Given the description of an element on the screen output the (x, y) to click on. 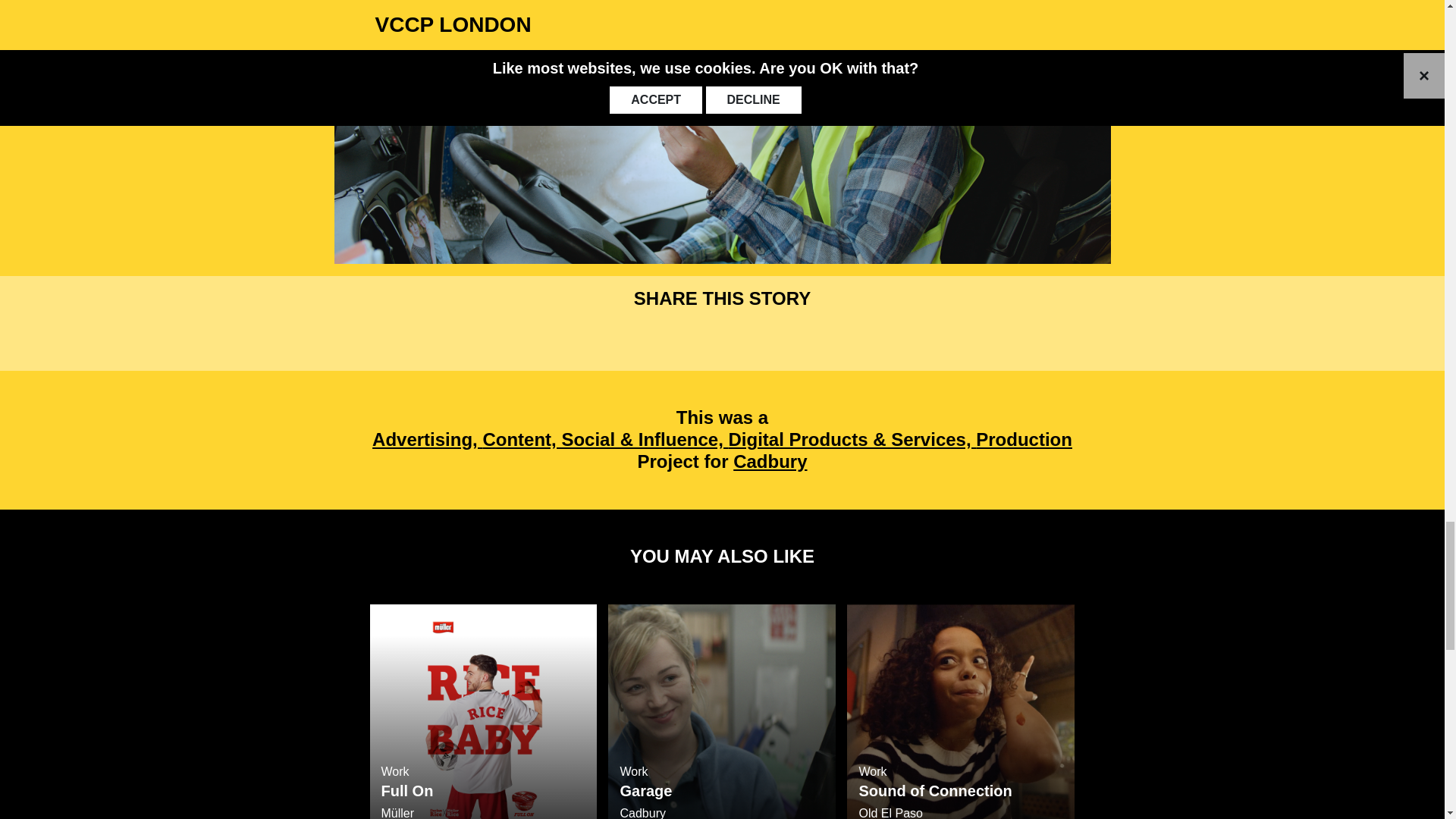
FACEBOOK (679, 337)
Production (1023, 439)
TWITTER (721, 711)
LINKED IN (721, 337)
Cadbury (764, 337)
Advertising, (960, 711)
